Given the description of an element on the screen output the (x, y) to click on. 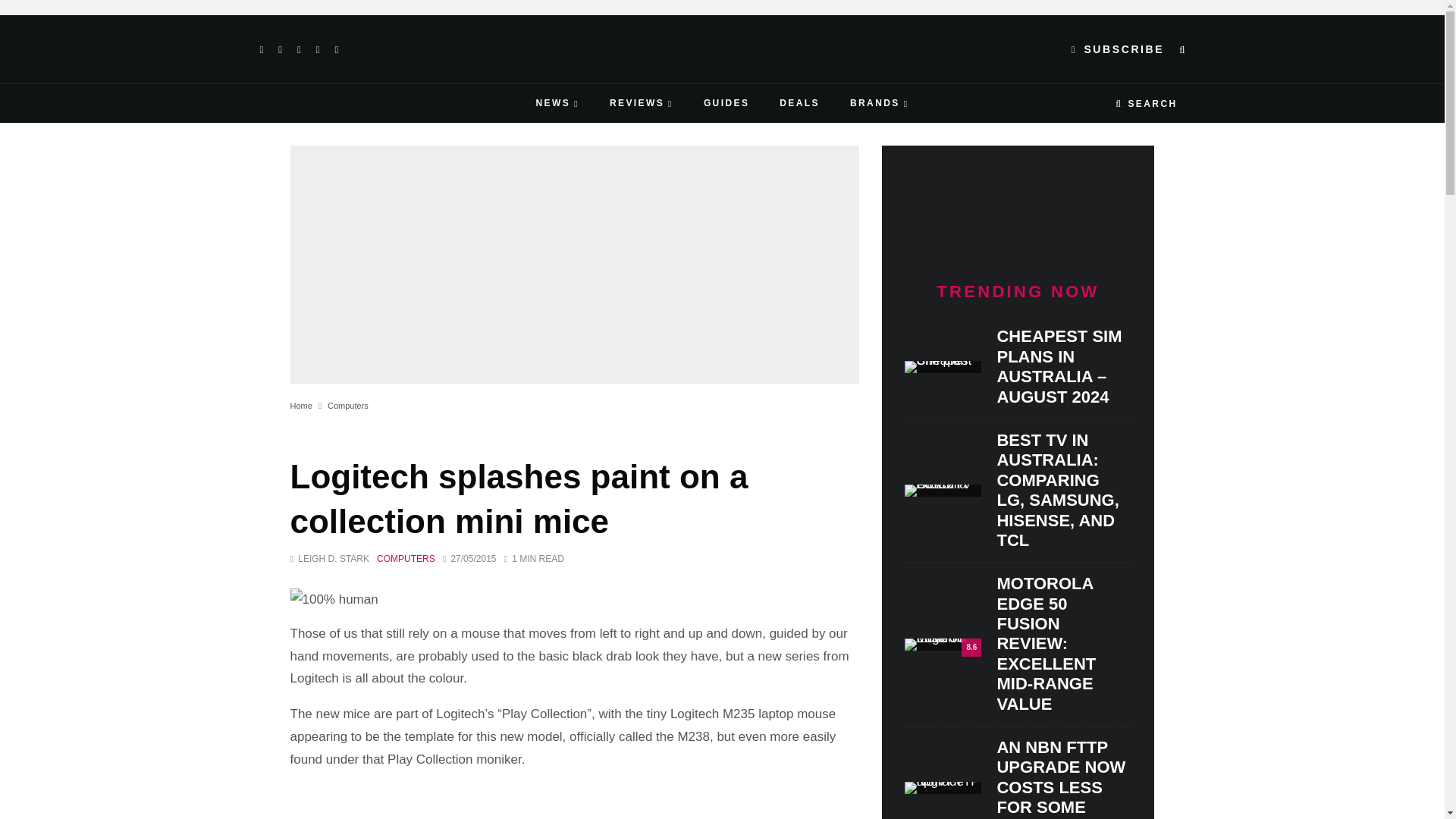
NBN FTTP upgrade (942, 787)
SUBSCRIBE (1118, 49)
LG C3 OLED TV Australia (942, 490)
motorola-edge-50-fusion (942, 644)
NEWS (557, 103)
